Given the description of an element on the screen output the (x, y) to click on. 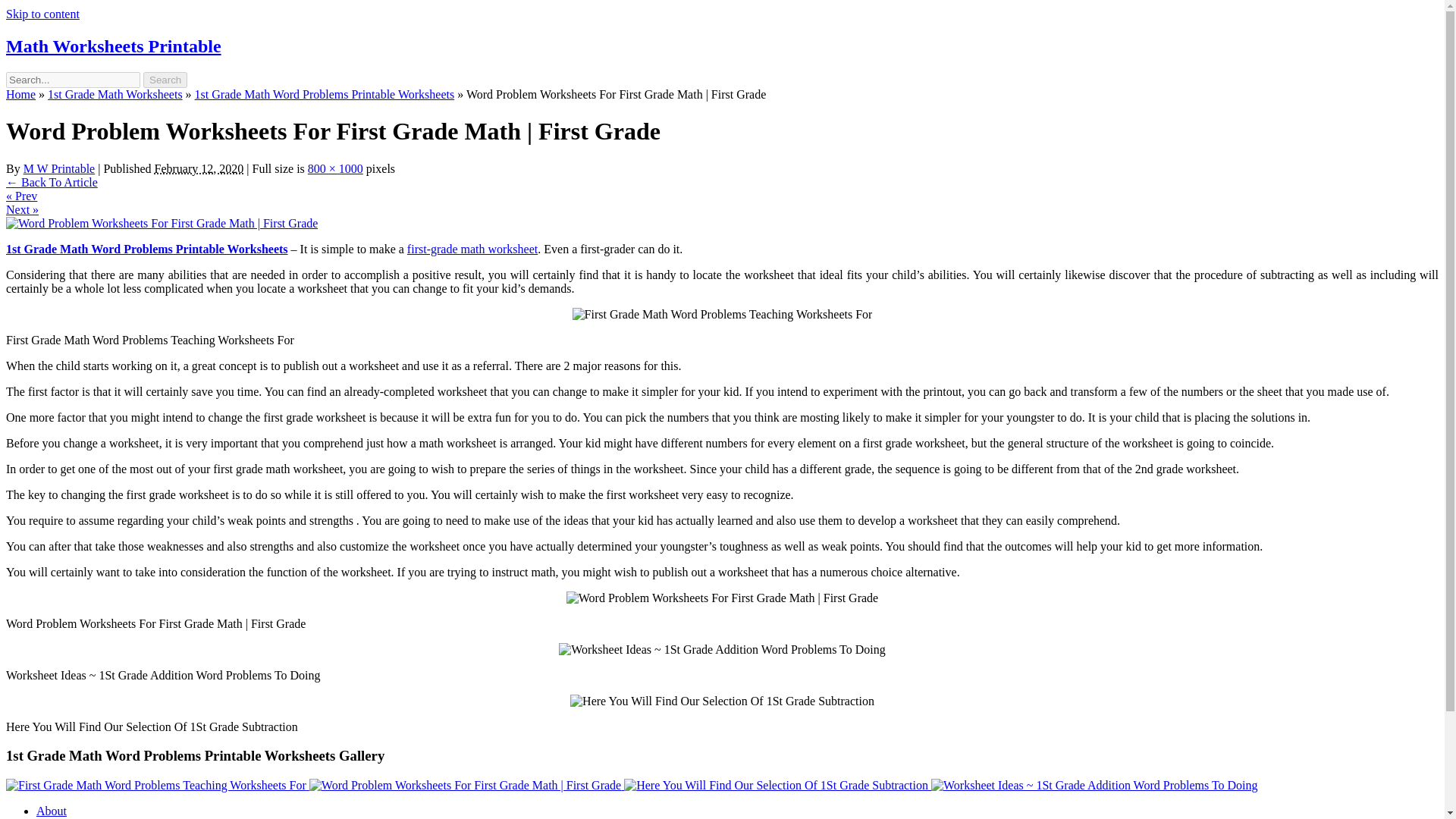
worksheet ideas 1st grade addition word problems to doing (722, 649)
About (51, 810)
1st Grade Math Word Problems Printable Worksheets (146, 248)
first-grade math worksheet (472, 248)
7:09 pm (199, 168)
First Grade Math Word Problems Teaching Worksheets For (156, 784)
First Grade Math Word Problems Teaching Worksheets For (155, 785)
Search (164, 79)
first grade math word problems teaching worksheets for (722, 314)
1st Grade Math Word Problems Printable Worksheets (324, 93)
Math Worksheets Printable (113, 46)
Search (164, 79)
Search for: (72, 79)
View all posts by M W Printable (59, 168)
word problem worksheets for first grade math first grade 4 (721, 598)
